Given the description of an element on the screen output the (x, y) to click on. 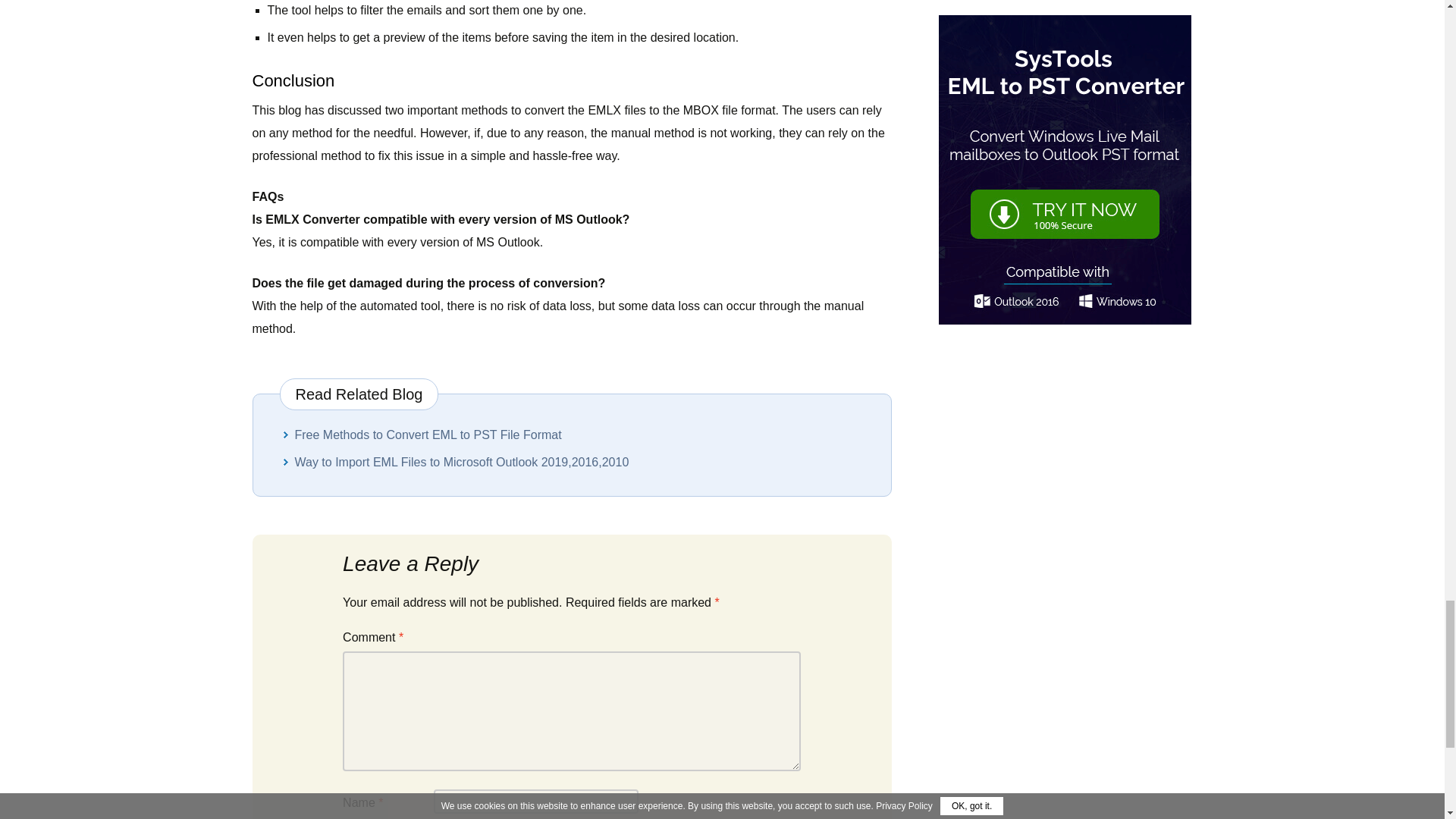
Way to Import EML Files to Microsoft Outlook 2019,2016,2010 (461, 461)
Free Methods to Convert EML to PST File Format (427, 434)
